Given the description of an element on the screen output the (x, y) to click on. 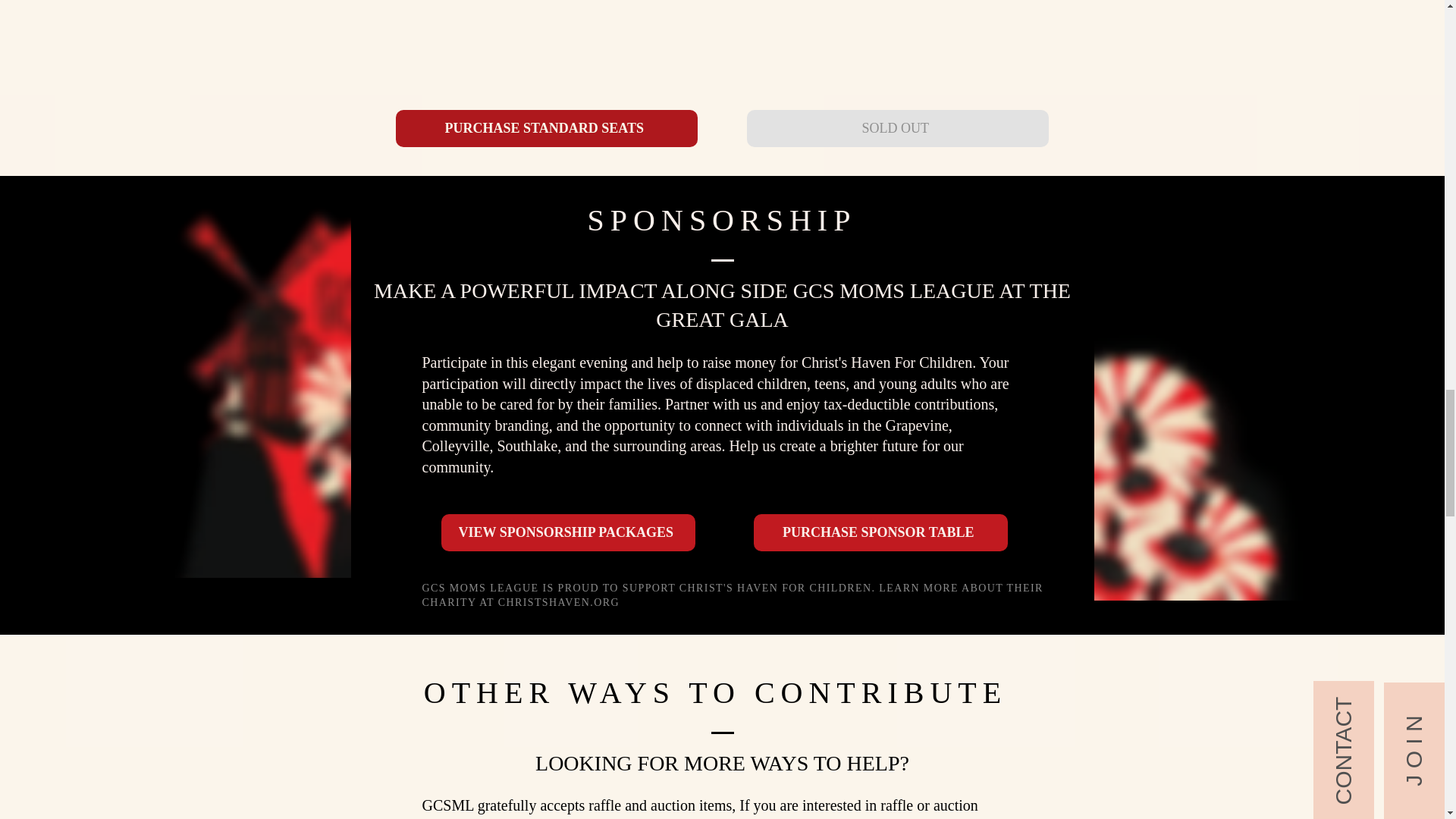
SOLD OUT (896, 128)
PURCHASE STANDARD SEATS (546, 128)
